Given the description of an element on the screen output the (x, y) to click on. 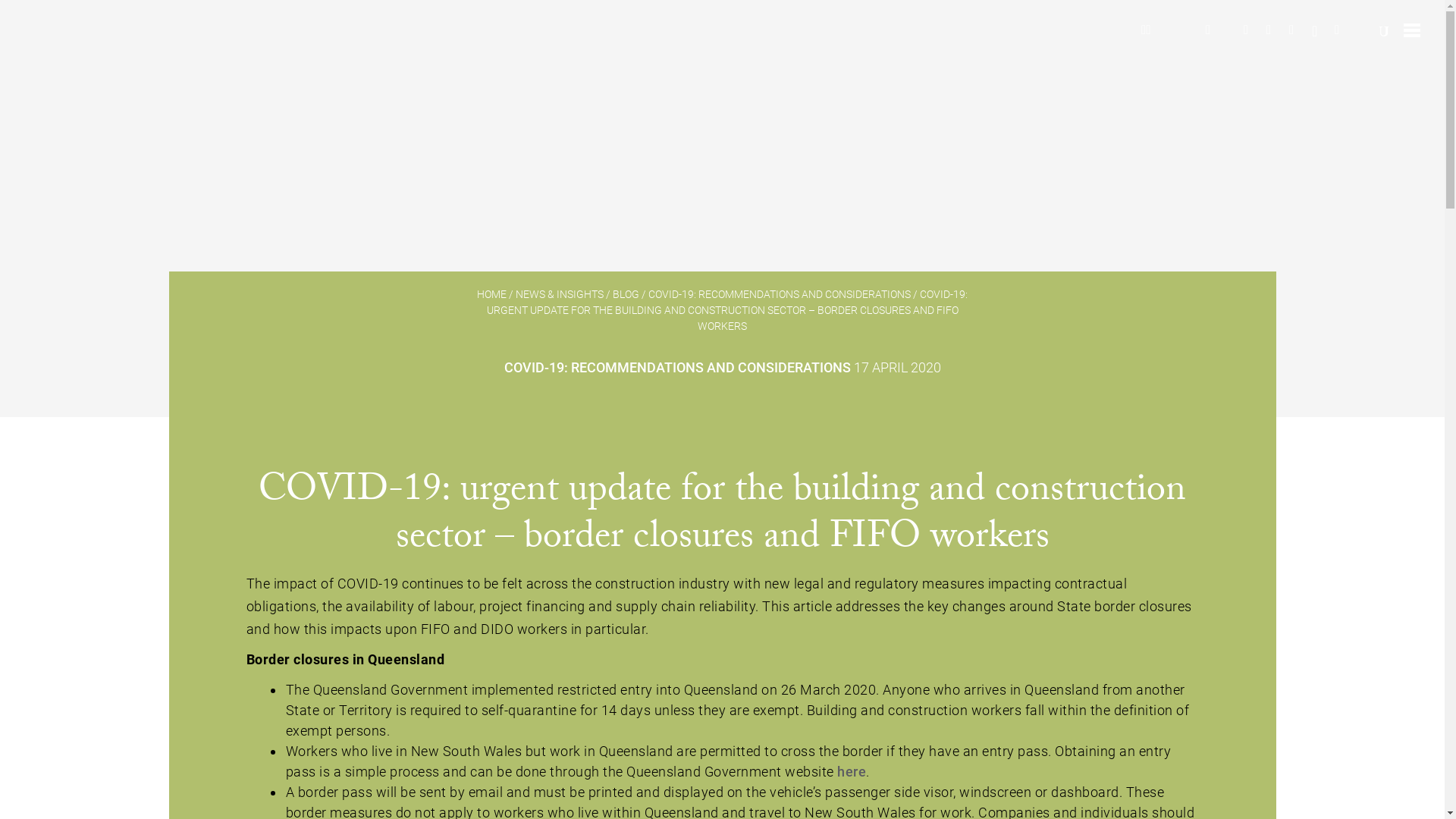
NEWS & INSIGHTS Element type: text (559, 294)
COVID-19: RECOMMENDATIONS AND CONSIDERATIONS Element type: text (779, 294)
here Element type: text (851, 771)
HOME Element type: text (491, 294)
BLOG Element type: text (625, 294)
